Given the description of an element on the screen output the (x, y) to click on. 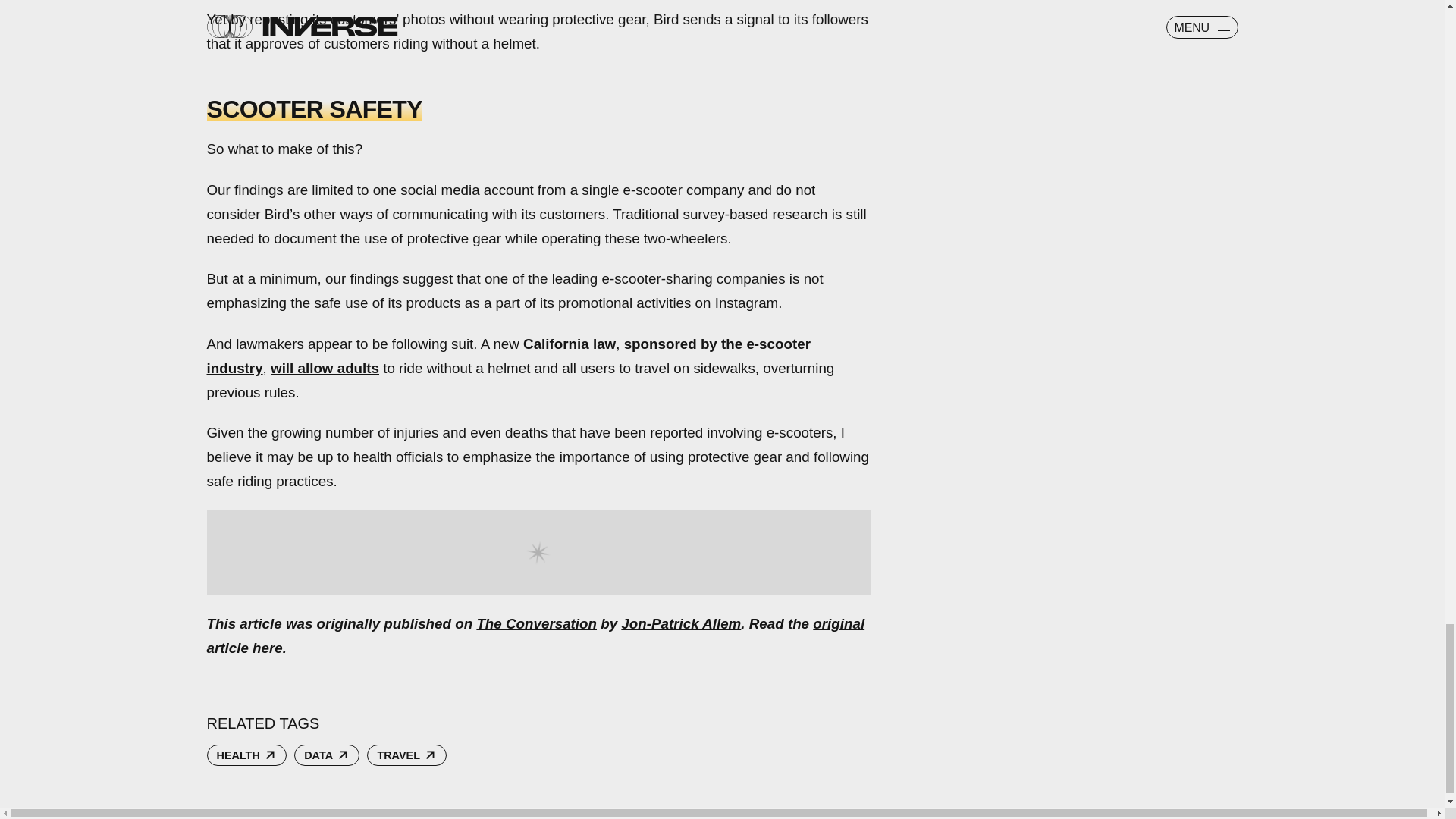
HEALTH (246, 754)
The Conversation (536, 623)
original article here (535, 635)
DATA (326, 754)
Jon-Patrick Allem (681, 623)
TRAVEL (406, 754)
will allow adults (324, 367)
California law (568, 343)
sponsored by the e-scooter industry (507, 355)
